Given the description of an element on the screen output the (x, y) to click on. 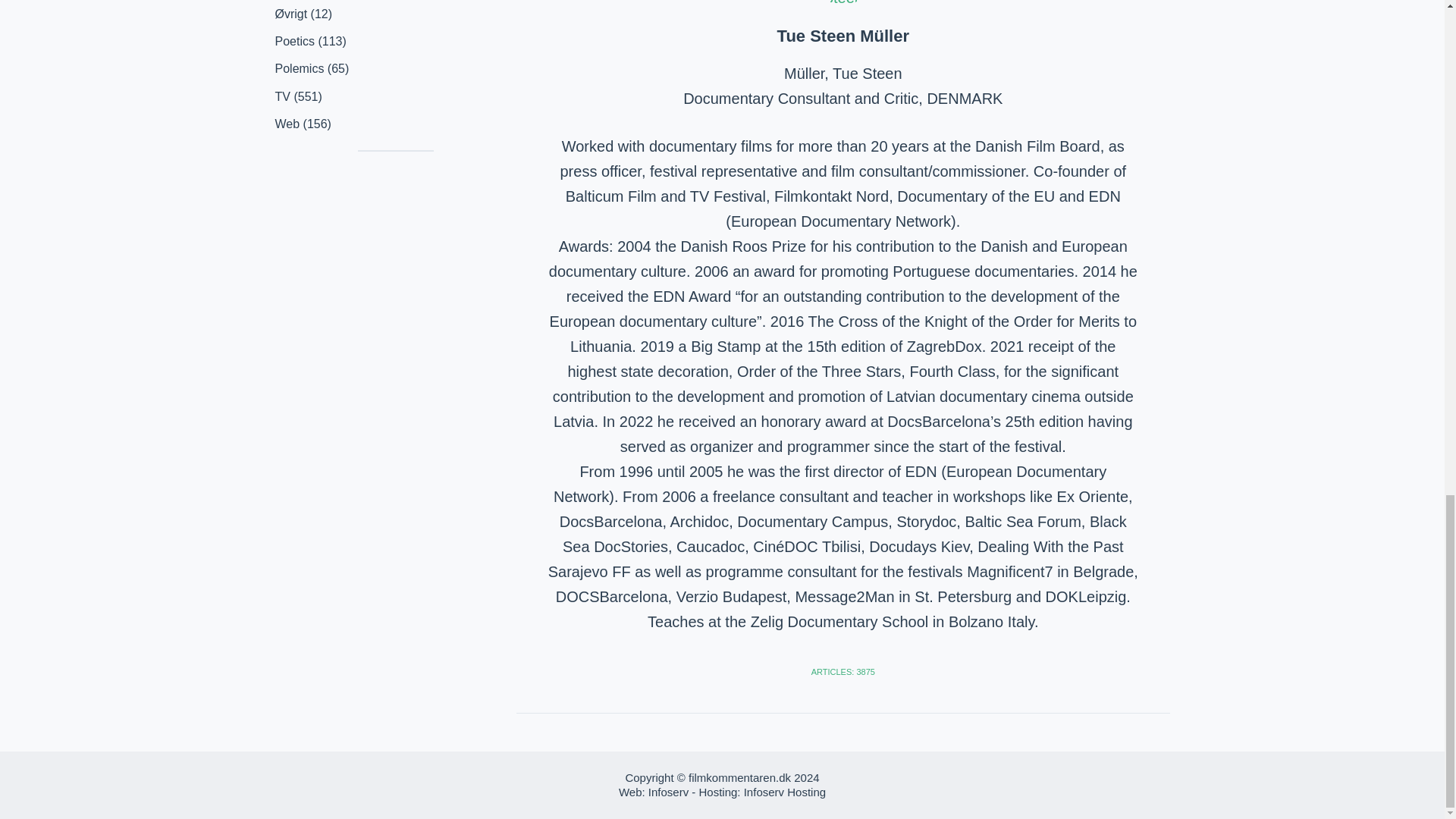
ARTICLES: 3875 (842, 671)
